Given the description of an element on the screen output the (x, y) to click on. 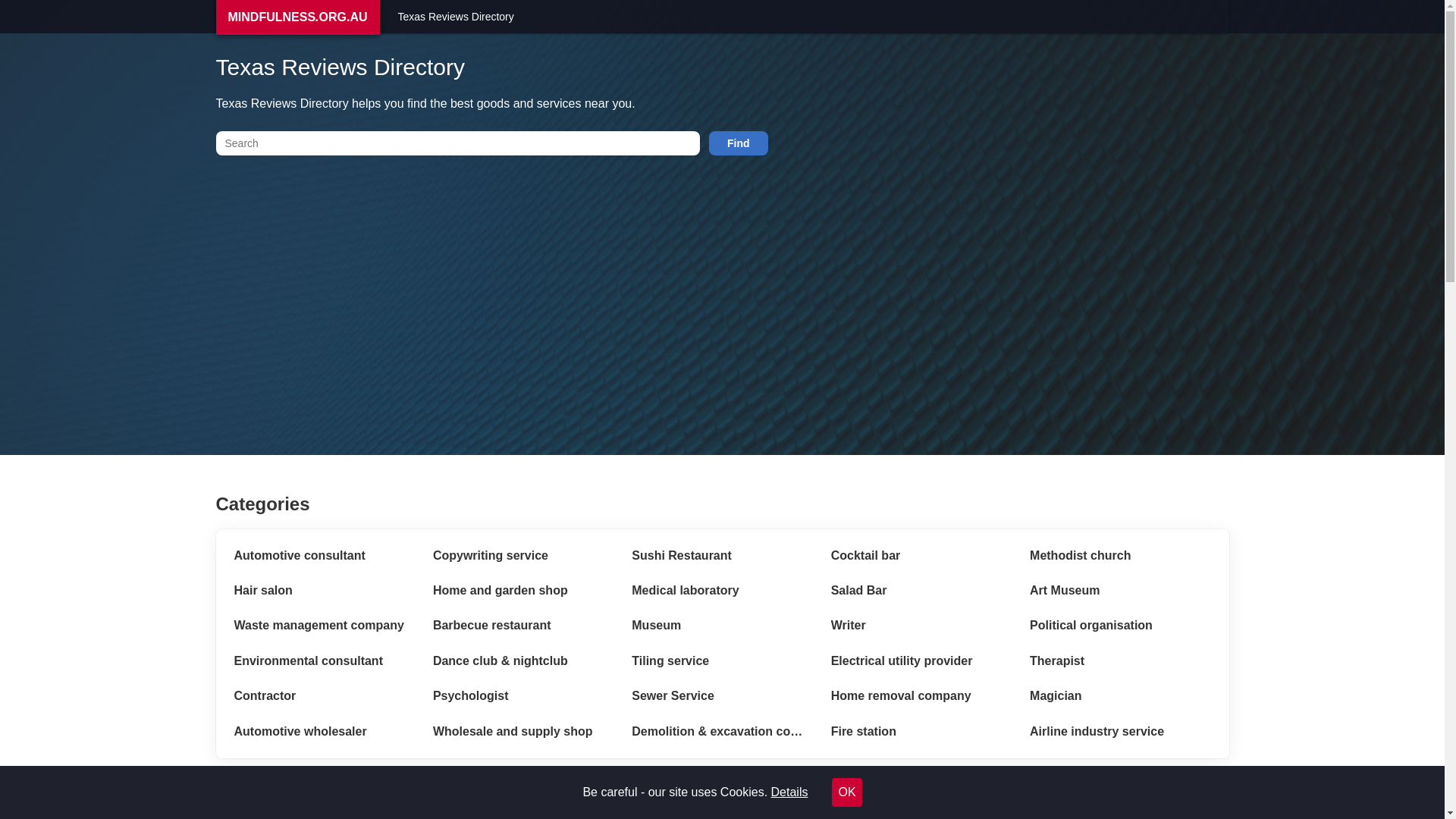
Contractor Element type: text (323, 695)
Barbecue restaurant Element type: text (522, 625)
Sewer Service Element type: text (721, 695)
Political organisation Element type: text (1119, 625)
Fire station Element type: text (921, 731)
Art Museum Element type: text (1119, 590)
Airline industry service Element type: text (1119, 731)
Wholesale and supply shop Element type: text (522, 731)
Museum Element type: text (721, 625)
Waste management company Element type: text (323, 625)
Copywriting service Element type: text (522, 555)
Automotive consultant Element type: text (323, 555)
Find Element type: text (738, 143)
Environmental consultant Element type: text (323, 660)
Magician Element type: text (1119, 695)
Electrical utility provider Element type: text (921, 660)
Tiling service Element type: text (721, 660)
Therapist Element type: text (1119, 660)
Psychologist Element type: text (522, 695)
Writer Element type: text (921, 625)
Salad Bar Element type: text (921, 590)
Medical laboratory Element type: text (721, 590)
Home removal company Element type: text (921, 695)
Sushi Restaurant Element type: text (721, 555)
MINDFULNESS.ORG.AU Element type: text (297, 17)
Details Element type: text (789, 791)
Cocktail bar Element type: text (921, 555)
Advertisement Element type: hover (670, 295)
Automotive wholesaler Element type: text (323, 731)
Home and garden shop Element type: text (522, 590)
Hair salon Element type: text (323, 590)
Demolition & excavation company Element type: text (721, 731)
Methodist church Element type: text (1119, 555)
Dance club & nightclub Element type: text (522, 660)
